Given the description of an element on the screen output the (x, y) to click on. 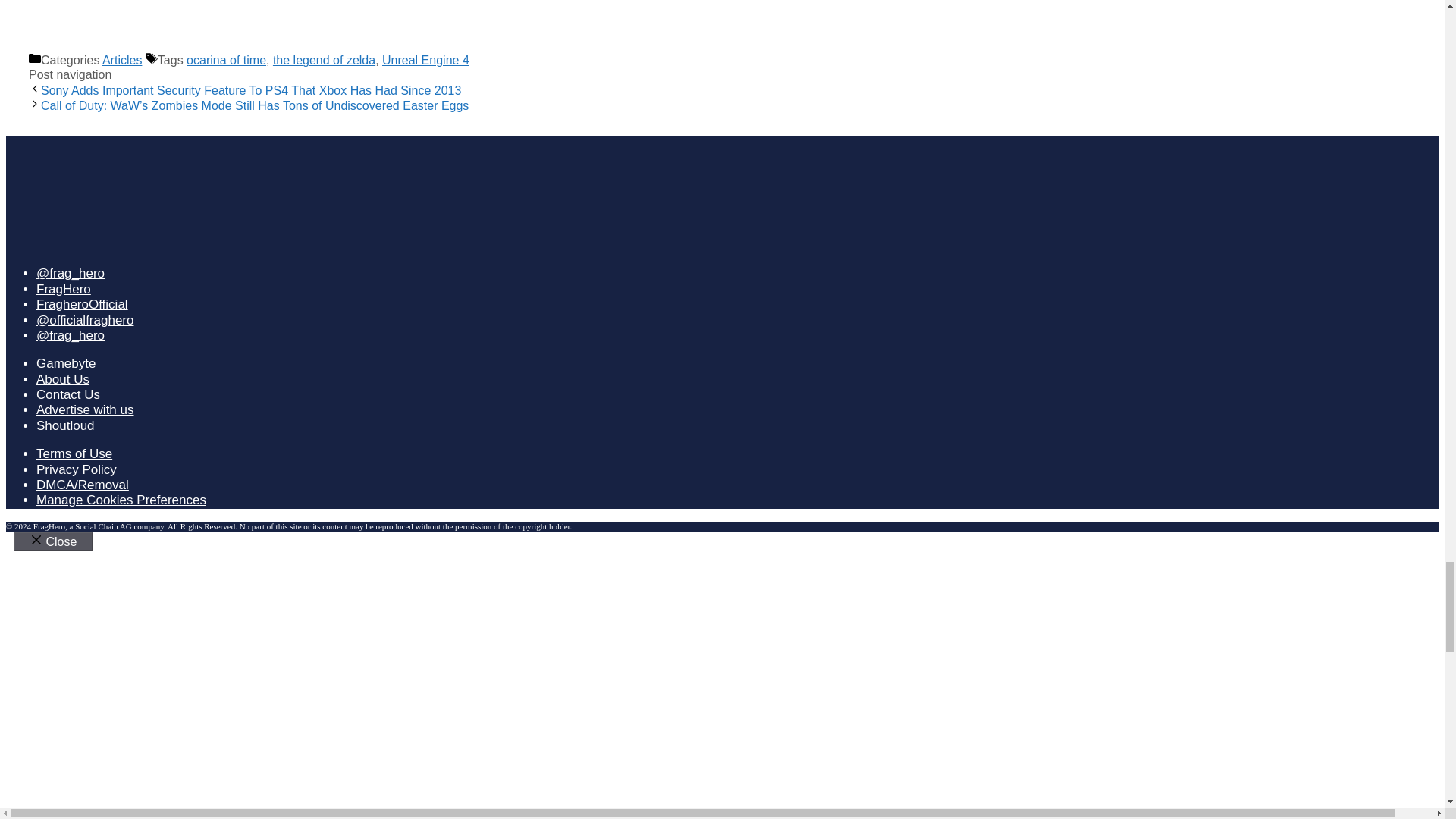
Fraghero Youtube (82, 304)
Previous (250, 90)
Next (254, 105)
Fraghero Tiktok (70, 335)
Fraghero Twitter (70, 273)
Fraghero Facebook (63, 288)
Gamebyte (66, 363)
Fraghero Instagram (84, 319)
